Given the description of an element on the screen output the (x, y) to click on. 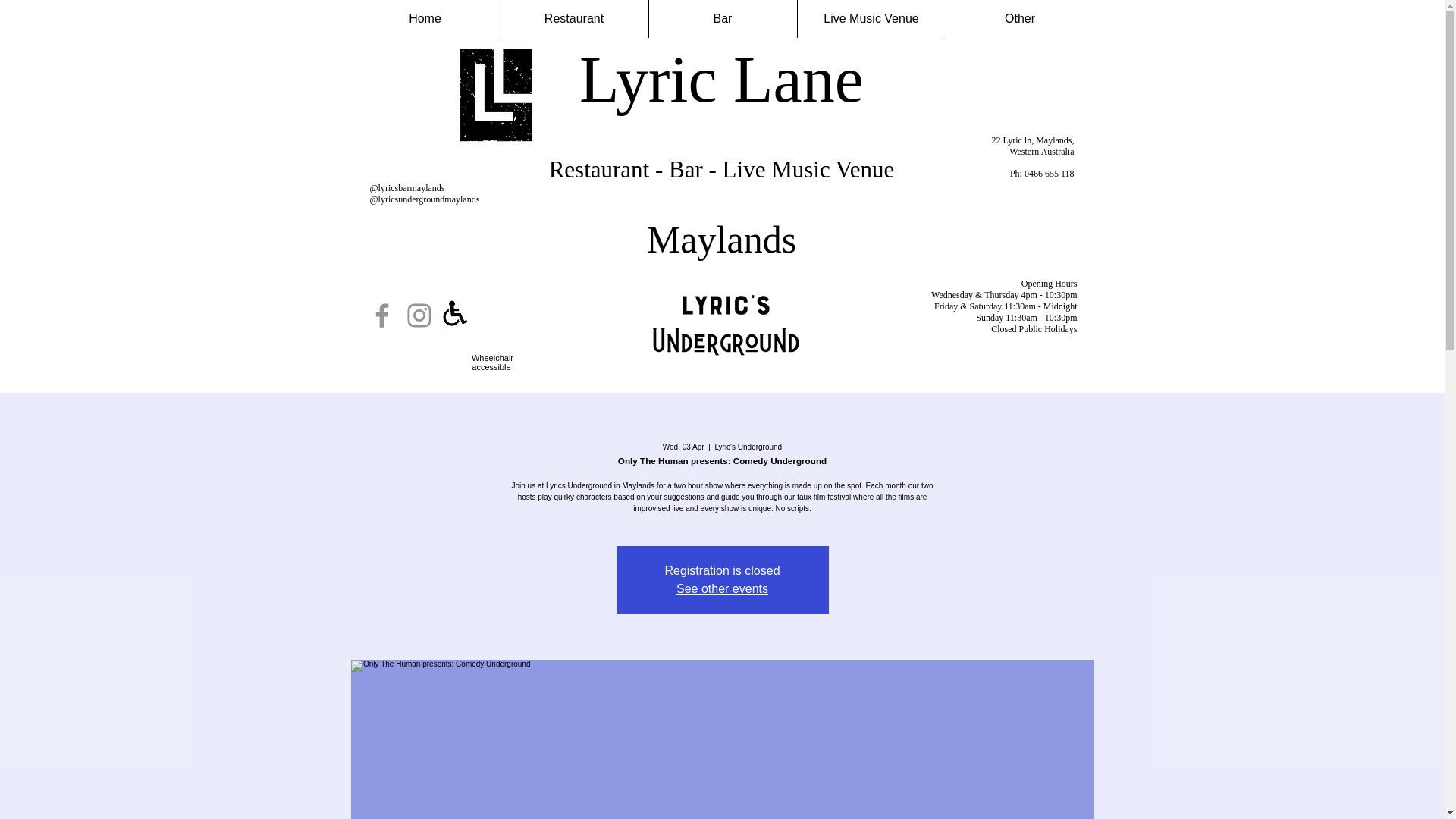
Bar (721, 18)
Home (424, 18)
Restaurant (573, 18)
See other events (722, 588)
Other (1018, 18)
Live Music Venue (870, 18)
